Given the description of an element on the screen output the (x, y) to click on. 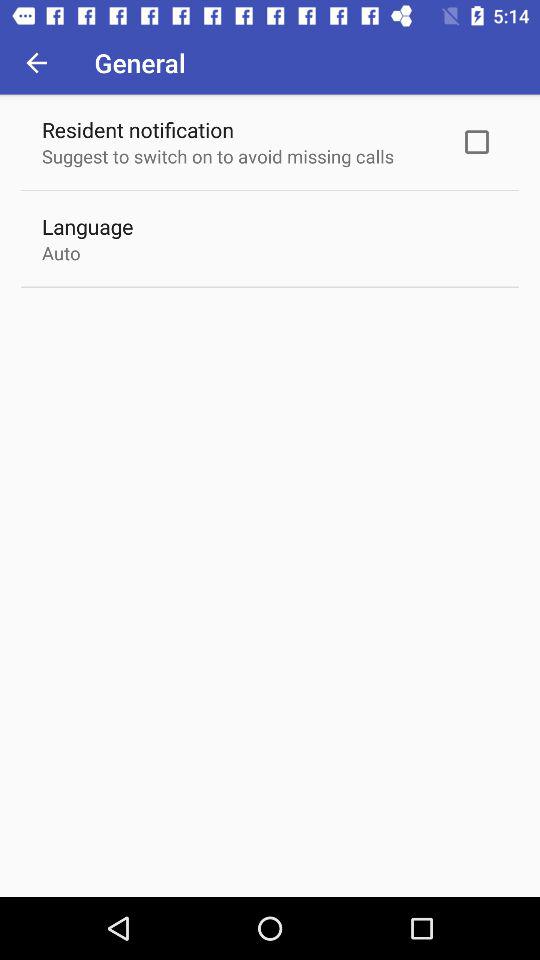
press the icon to the left of general item (36, 62)
